Given the description of an element on the screen output the (x, y) to click on. 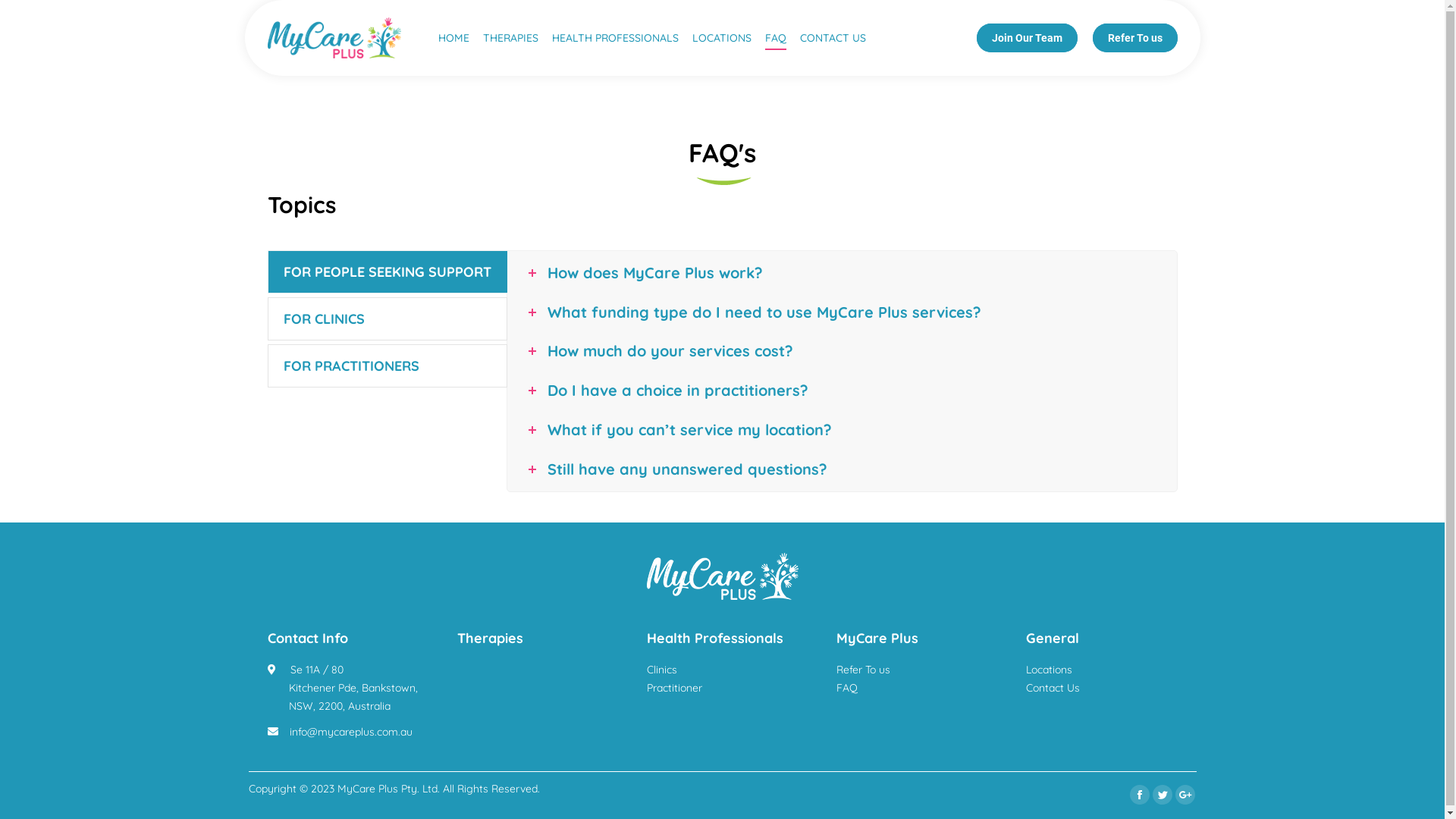
MyCare Plus Element type: text (876, 637)
HEALTH PROFESSIONALS Element type: text (615, 37)
FOR PRACTITIONERS Element type: text (386, 365)
HOME Element type: text (453, 37)
FAQ Element type: text (845, 687)
Therapies Element type: text (489, 637)
Locations Element type: text (1048, 669)
FAQ Element type: text (774, 37)
Contact Us Element type: text (1052, 687)
Health Professionals Element type: text (714, 637)
FOR PEOPLE SEEKING SUPPORT Element type: text (386, 271)
THERAPIES Element type: text (509, 37)
CONTACT US Element type: text (832, 37)
Practitioner Element type: text (673, 687)
Twitter Element type: text (1162, 794)
Clinics Element type: text (661, 669)
Refer To us Element type: text (1134, 37)
Join Our Team Element type: text (1026, 37)
LOCATIONS Element type: text (720, 37)
FOR CLINICS Element type: text (386, 318)
Facebook Element type: text (1139, 794)
Google+ Element type: text (1185, 794)
Refer To us Element type: text (862, 669)
